Given the description of an element on the screen output the (x, y) to click on. 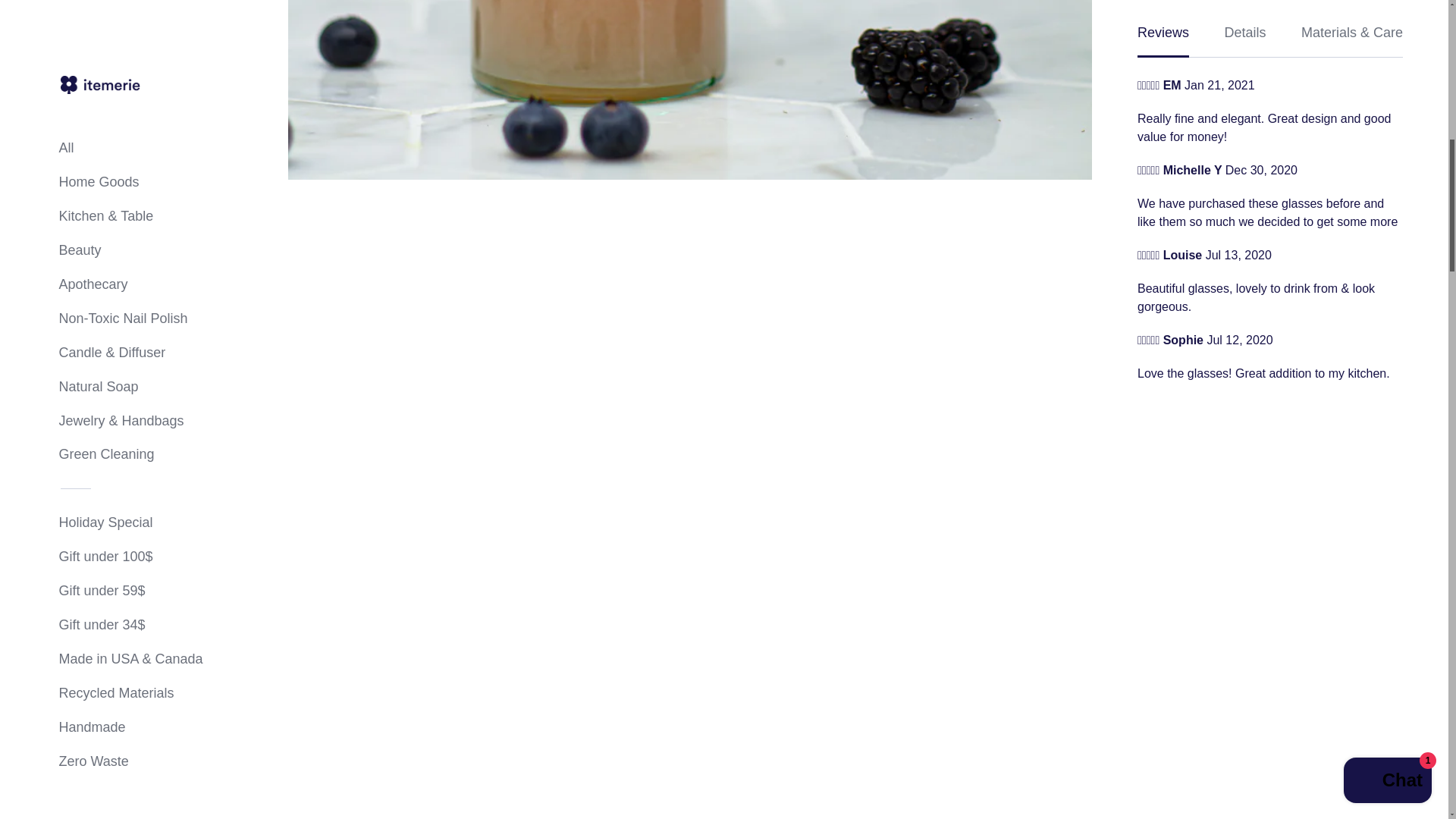
FAQ (74, 90)
About (78, 50)
Badges (83, 11)
Blog (74, 129)
